Given the description of an element on the screen output the (x, y) to click on. 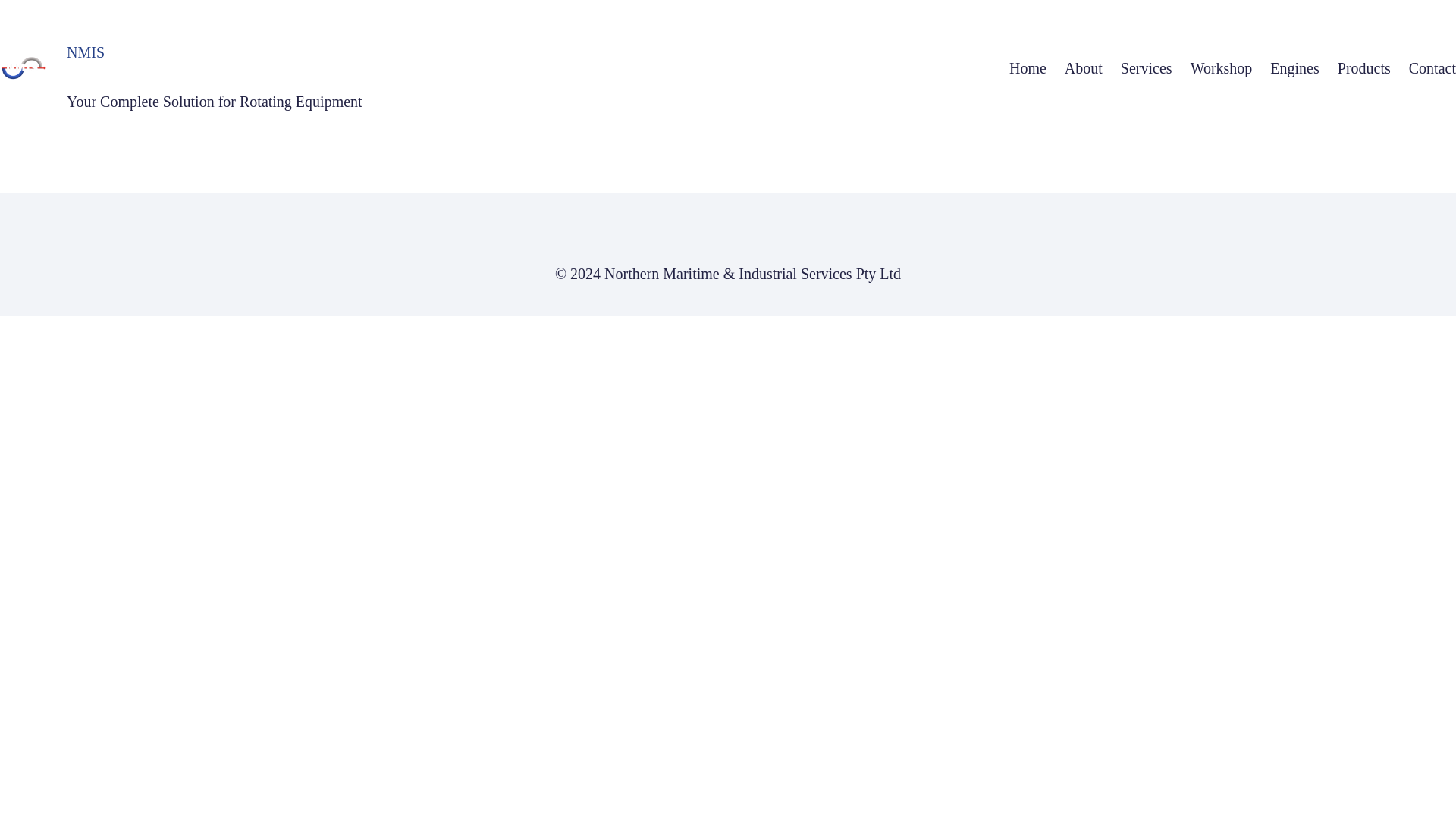
Products (1364, 68)
Workshop (1221, 68)
Engines (1294, 68)
NMIS (85, 52)
Home (1027, 68)
Services (1146, 68)
About (1083, 68)
